Given the description of an element on the screen output the (x, y) to click on. 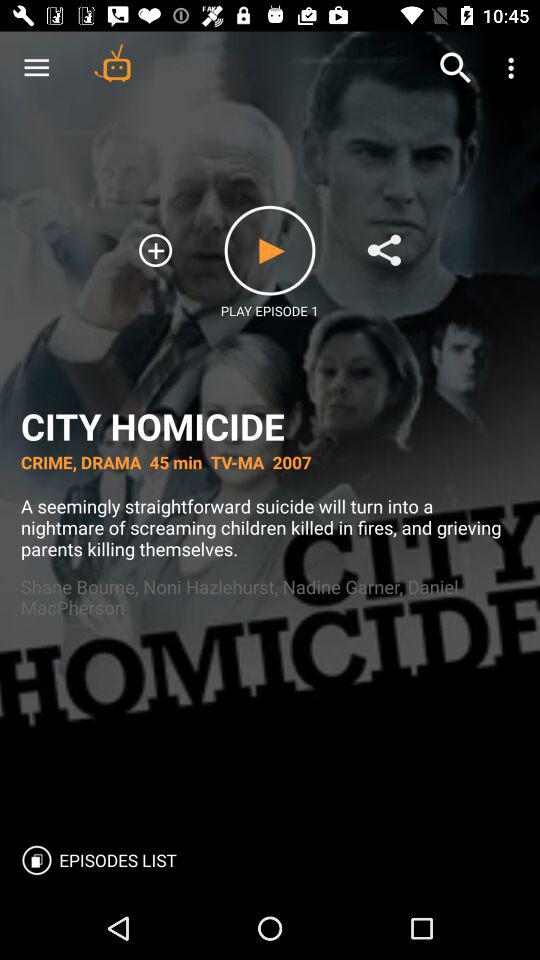
live or tv view (112, 62)
